Given the description of an element on the screen output the (x, y) to click on. 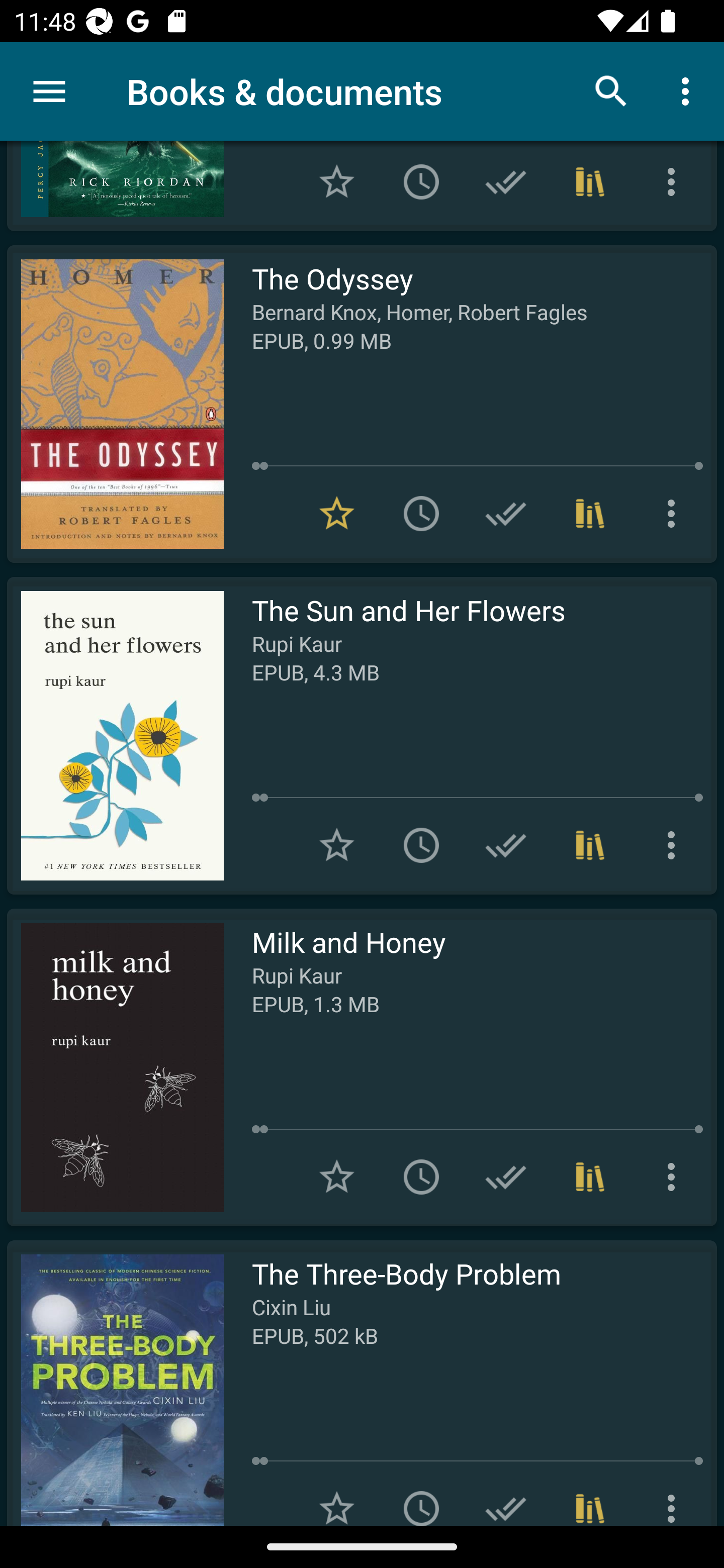
Menu (49, 91)
Search books & documents (611, 90)
More options (688, 90)
Add to Favorites (336, 182)
Add to To read (421, 182)
Add to Have read (505, 182)
Collections (1) (590, 182)
More options (674, 182)
Read The Odyssey (115, 403)
Remove from Favorites (336, 513)
Add to To read (421, 513)
Add to Have read (505, 513)
Collections (1) (590, 513)
More options (674, 513)
Read The Sun and Her Flowers (115, 736)
Add to Favorites (336, 844)
Add to To read (421, 844)
Add to Have read (505, 844)
Collections (1) (590, 844)
More options (674, 844)
Read Milk and Honey (115, 1066)
Add to Favorites (336, 1177)
Add to To read (421, 1177)
Add to Have read (505, 1177)
Collections (1) (590, 1177)
More options (674, 1177)
Read The Three-Body Problem (115, 1382)
Add to Favorites (336, 1495)
Add to To read (421, 1495)
Add to Have read (505, 1495)
Collections (1) (590, 1495)
More options (674, 1495)
